Given the description of an element on the screen output the (x, y) to click on. 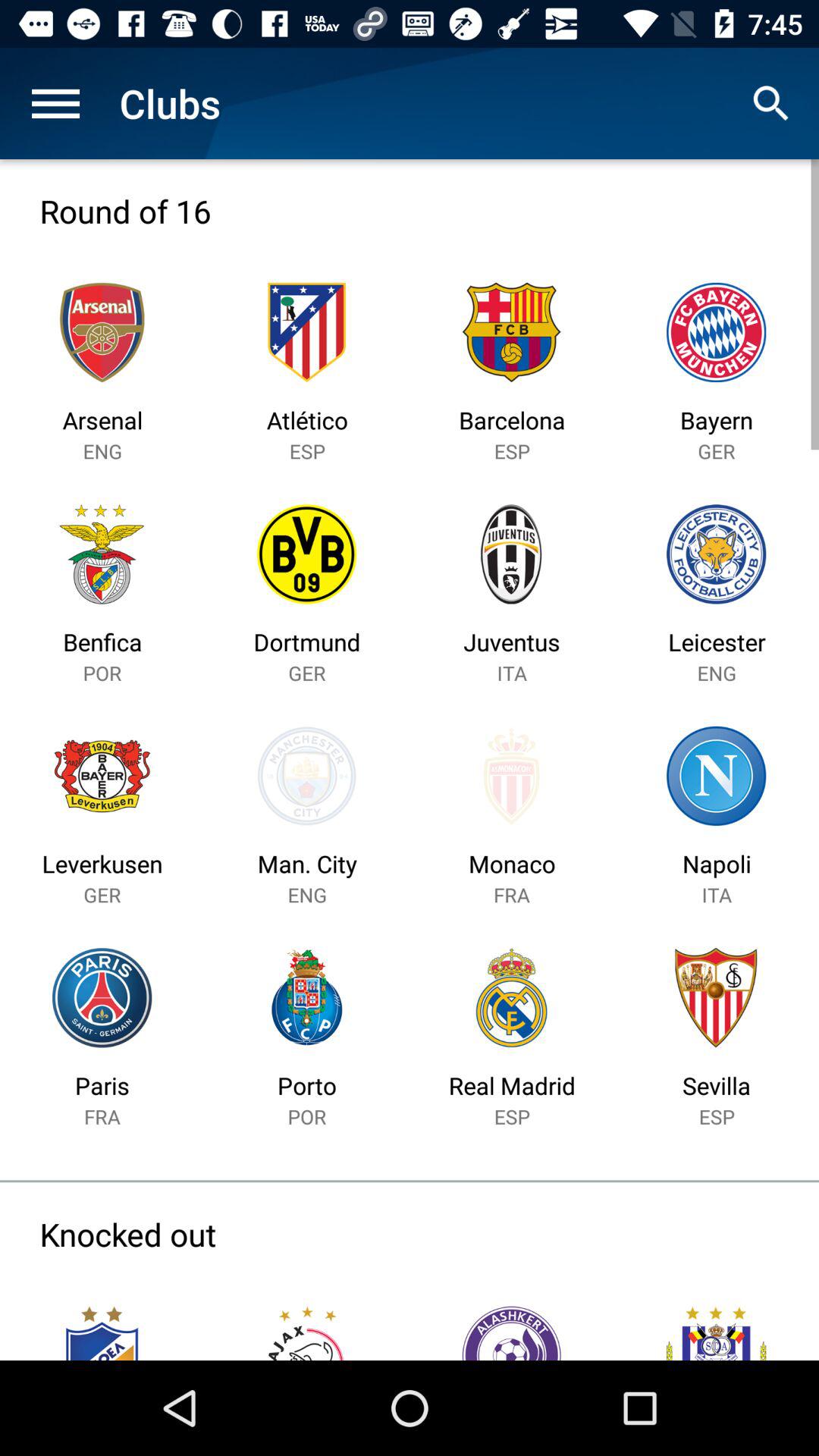
tap icon next to clubs icon (55, 103)
